Given the description of an element on the screen output the (x, y) to click on. 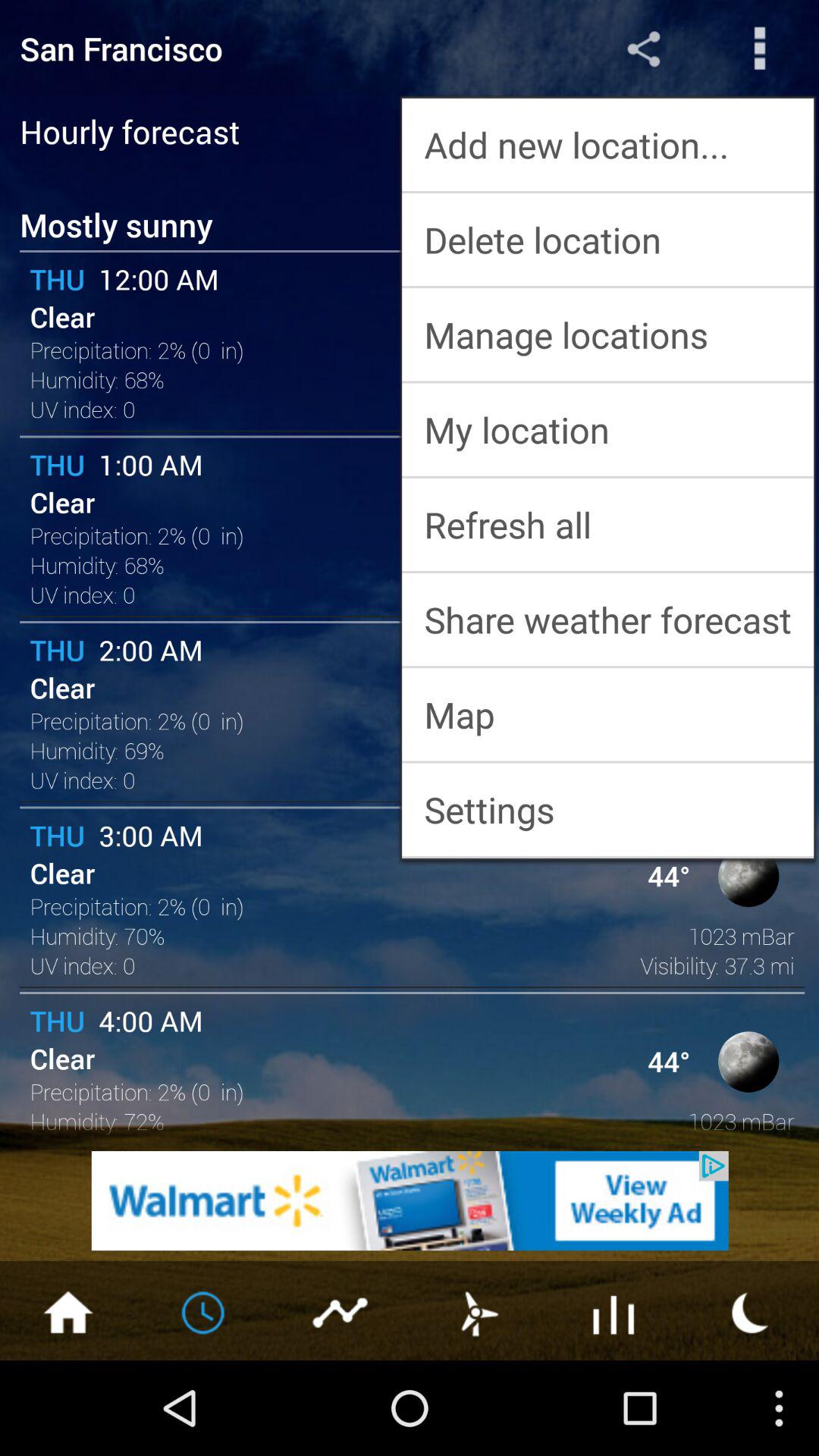
open my location icon (607, 429)
